Given the description of an element on the screen output the (x, y) to click on. 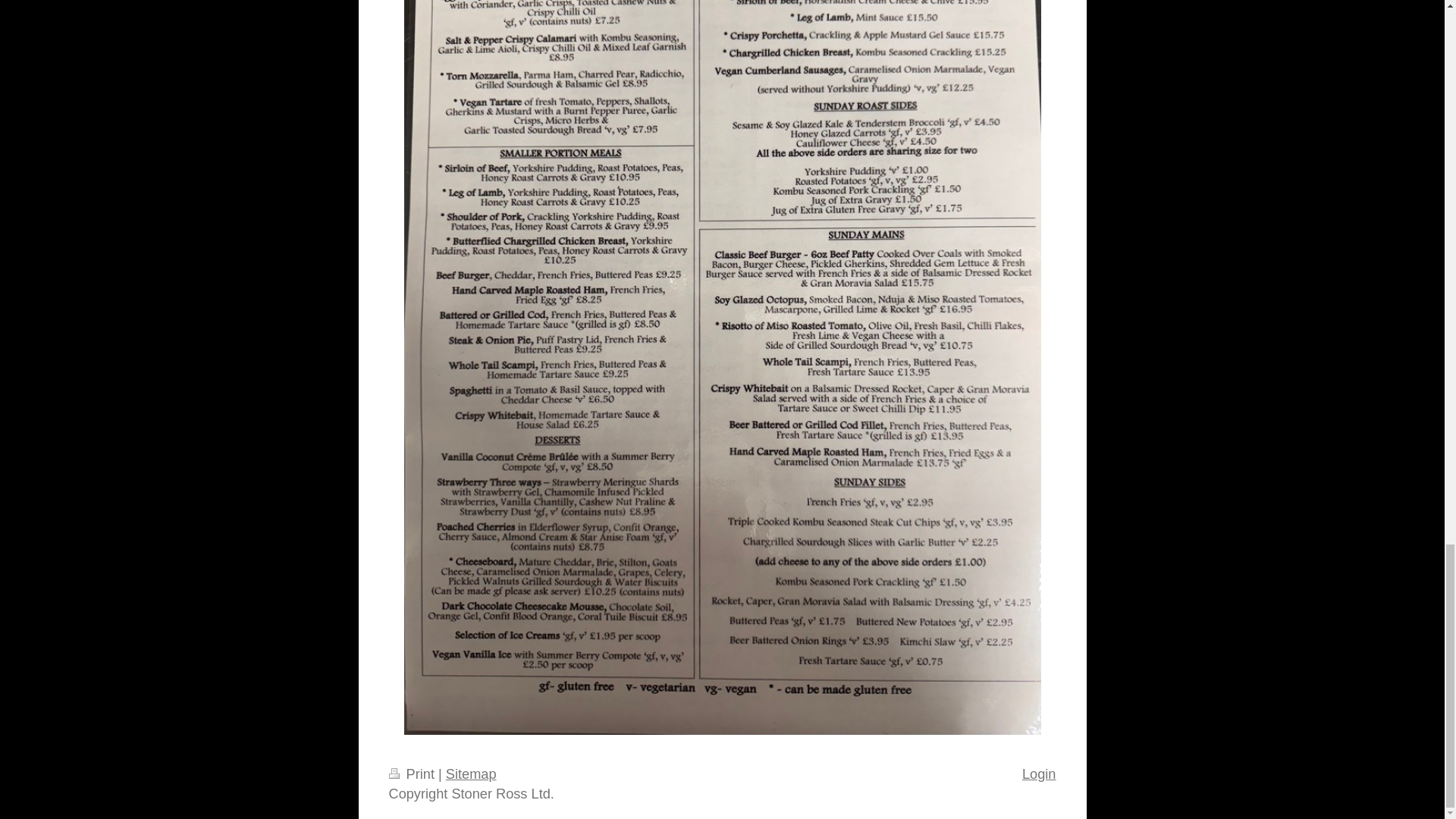
Login (1039, 774)
Sitemap (470, 774)
Print (413, 774)
